Given the description of an element on the screen output the (x, y) to click on. 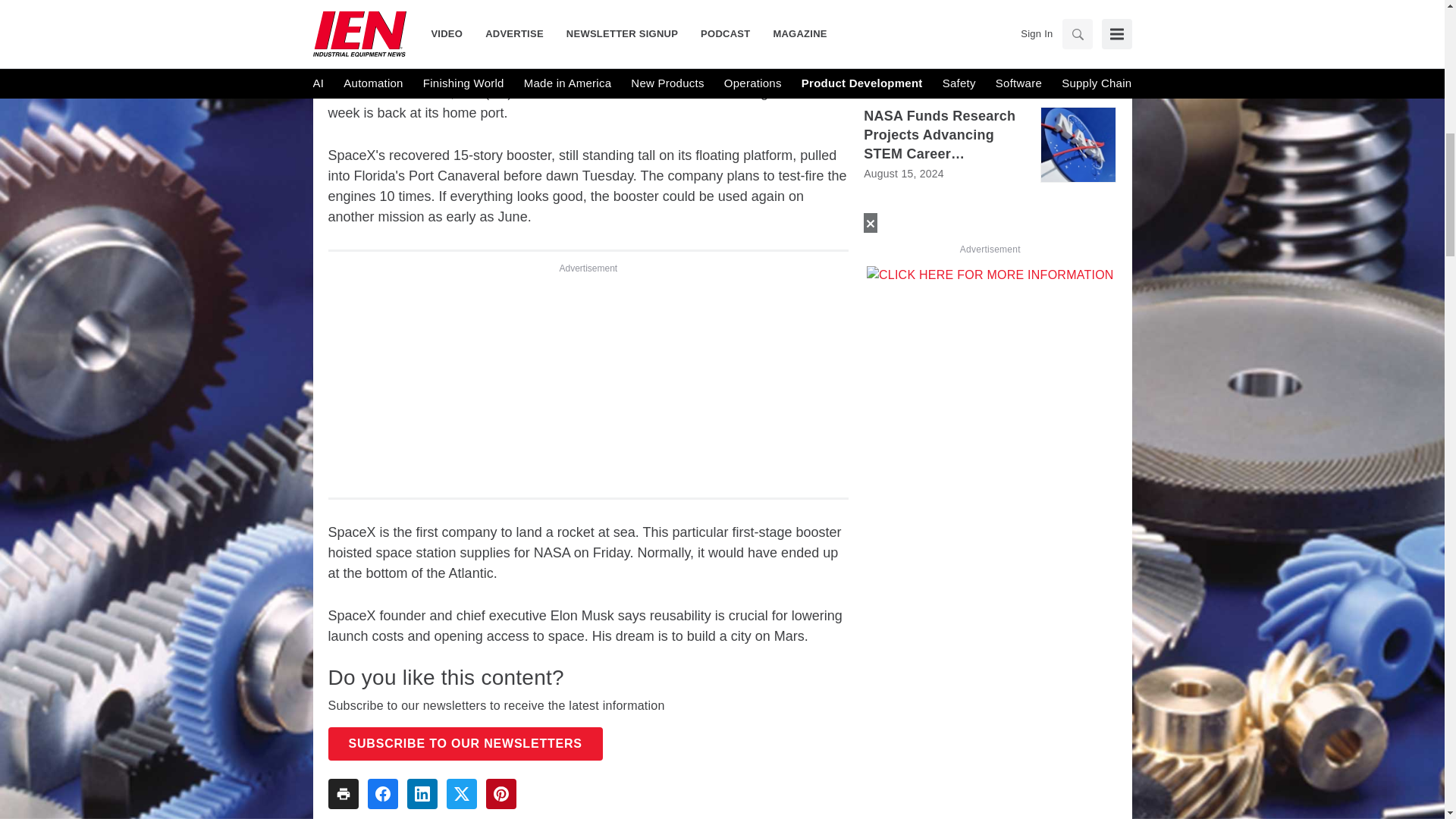
Share To linkedin (421, 793)
Share To print (342, 793)
3rd party ad content (587, 380)
Share To facebook (381, 793)
